Given the description of an element on the screen output the (x, y) to click on. 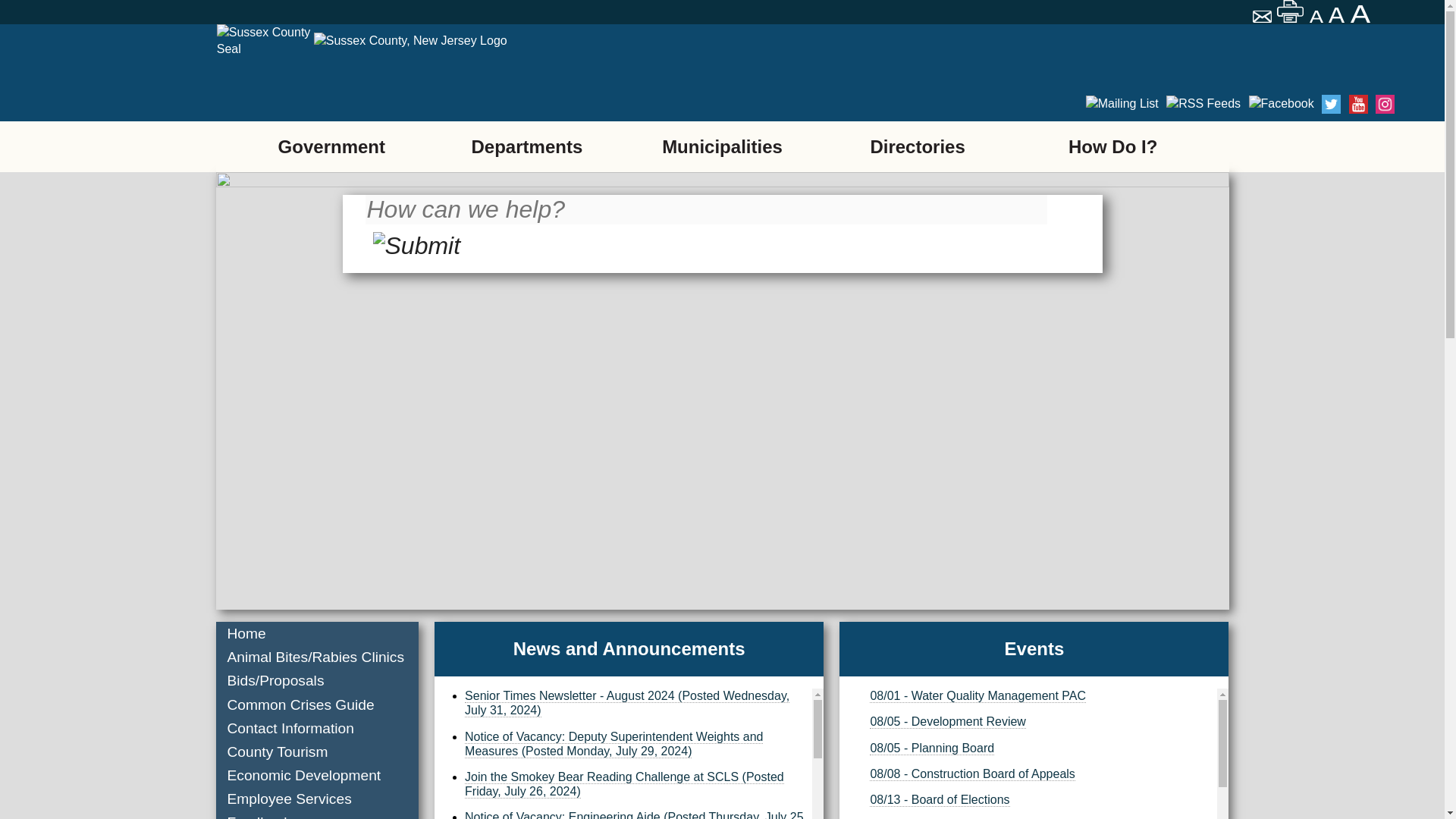
Visit our Facebook page (1149, 104)
Follow us on Twitter (1175, 104)
Email page (1263, 18)
Government (330, 146)
Medium font size (1336, 14)
Sign Up for emails from Sussex County (1095, 104)
Visit our RSS feed (1121, 104)
Small font size (1316, 16)
Visit our YouTube channel (1202, 104)
Print page (1291, 11)
Search Box (705, 219)
Large font size (1362, 13)
Visit our Instagram page (1229, 104)
